Given the description of an element on the screen output the (x, y) to click on. 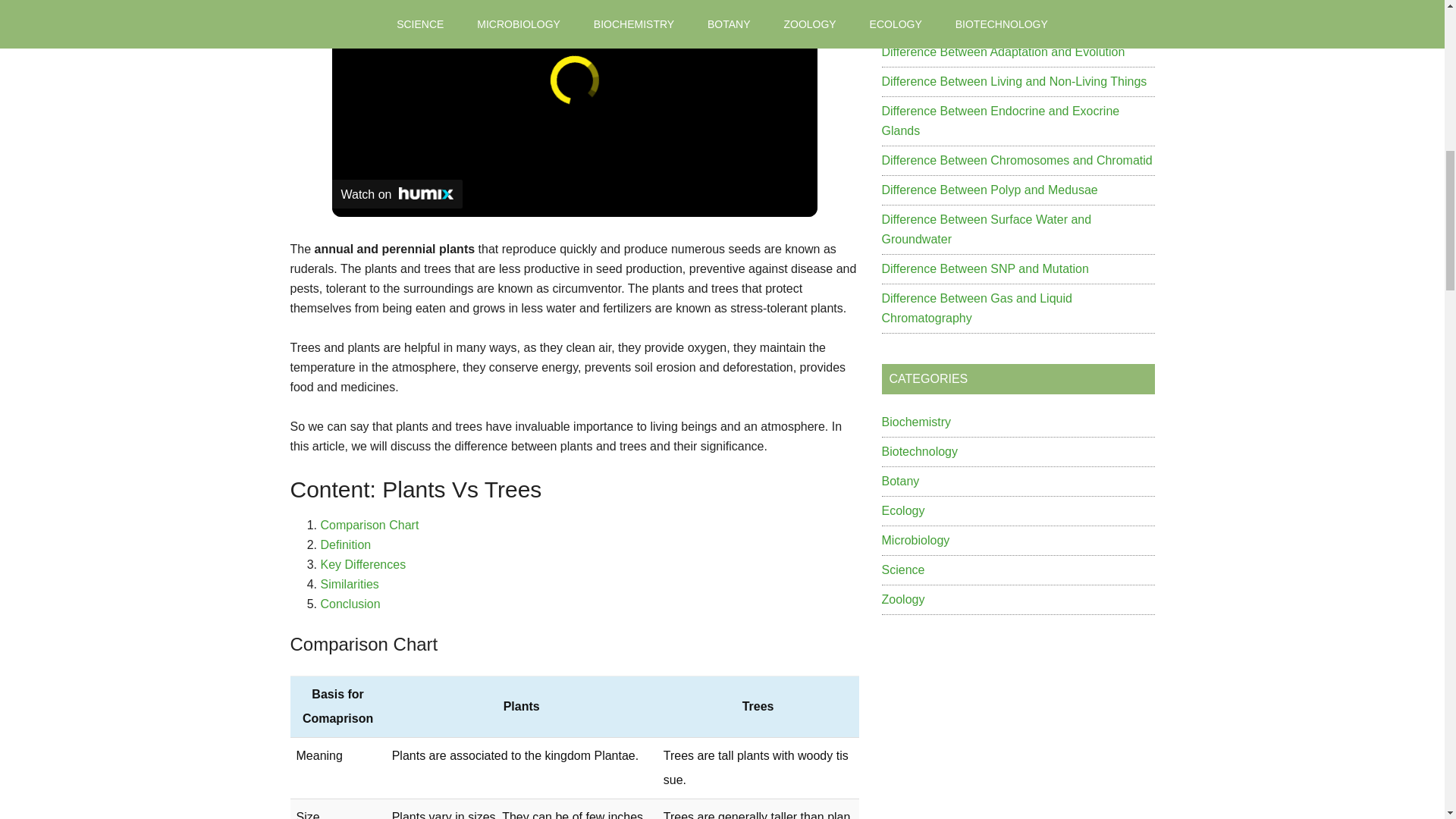
Similarities (349, 584)
Comparison Chart (369, 524)
Conclusion (350, 603)
Key Differences (363, 563)
Definition (345, 544)
Watch on (397, 193)
